Given the description of an element on the screen output the (x, y) to click on. 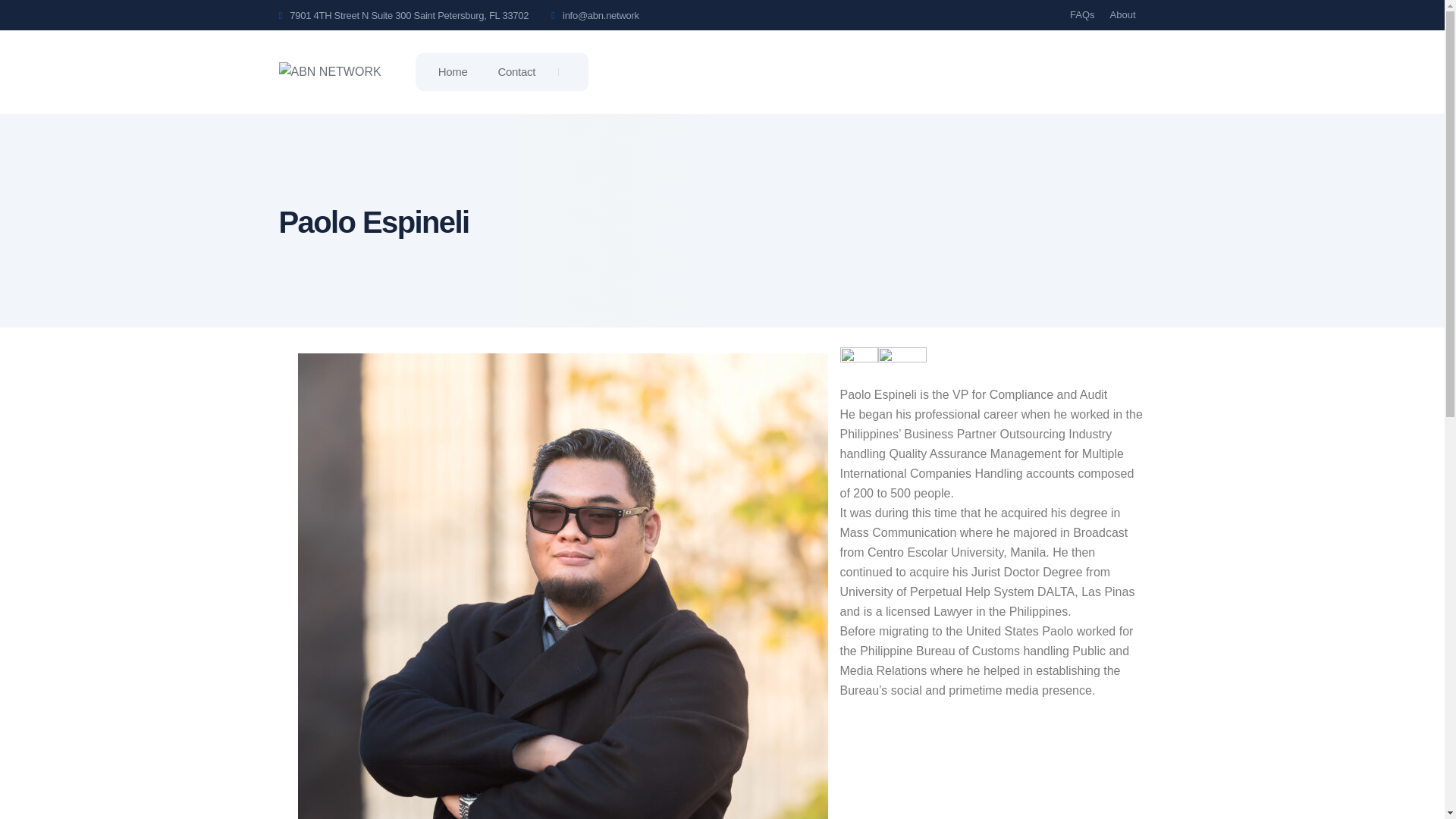
FAQs (1082, 14)
About (1122, 14)
Home (452, 71)
Contact (516, 71)
